Given the description of an element on the screen output the (x, y) to click on. 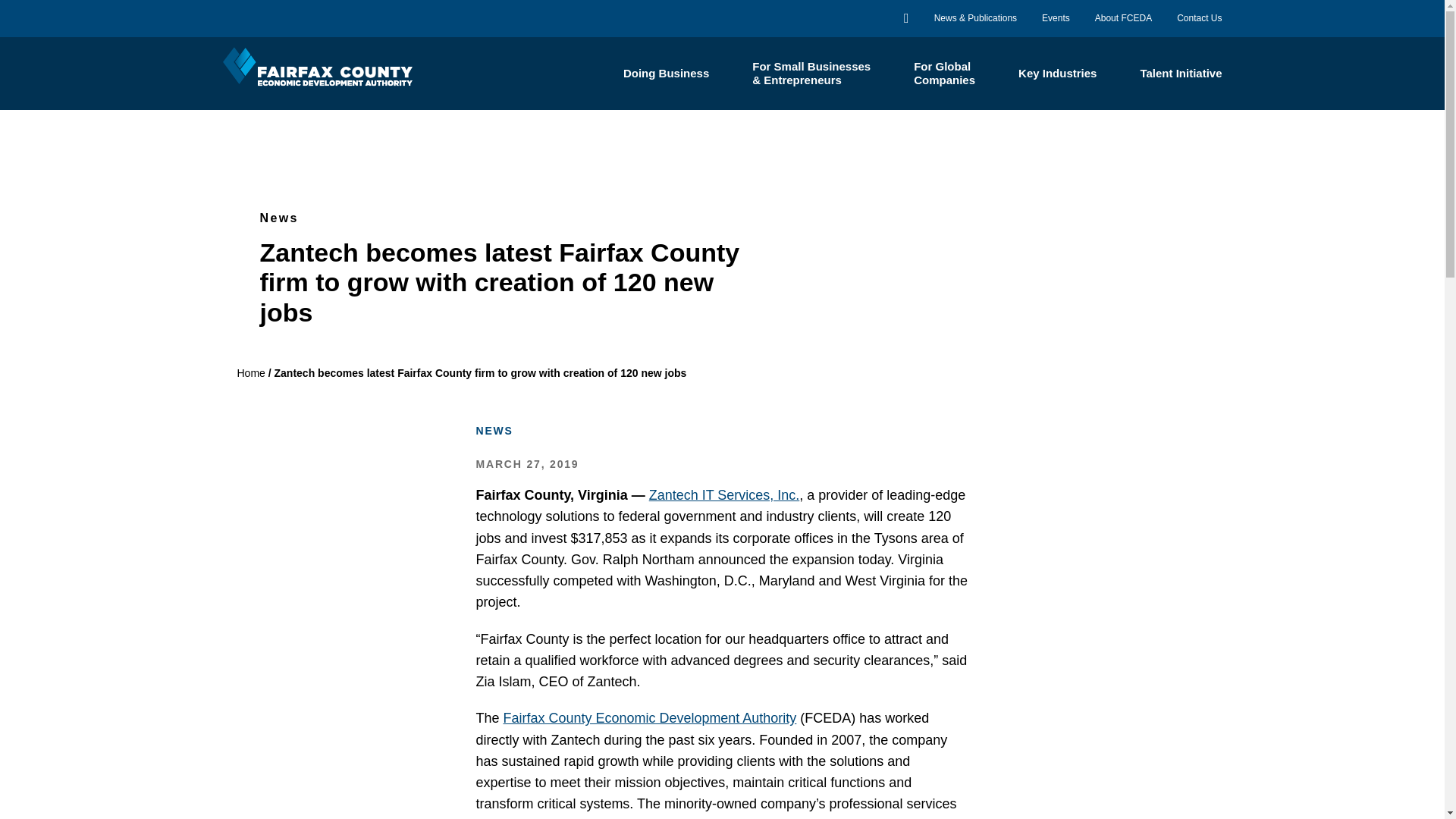
Events (1056, 18)
Doing Business (666, 72)
Contact Us (1198, 18)
About FCEDA (1122, 18)
Key Industries (1056, 72)
